Given the description of an element on the screen output the (x, y) to click on. 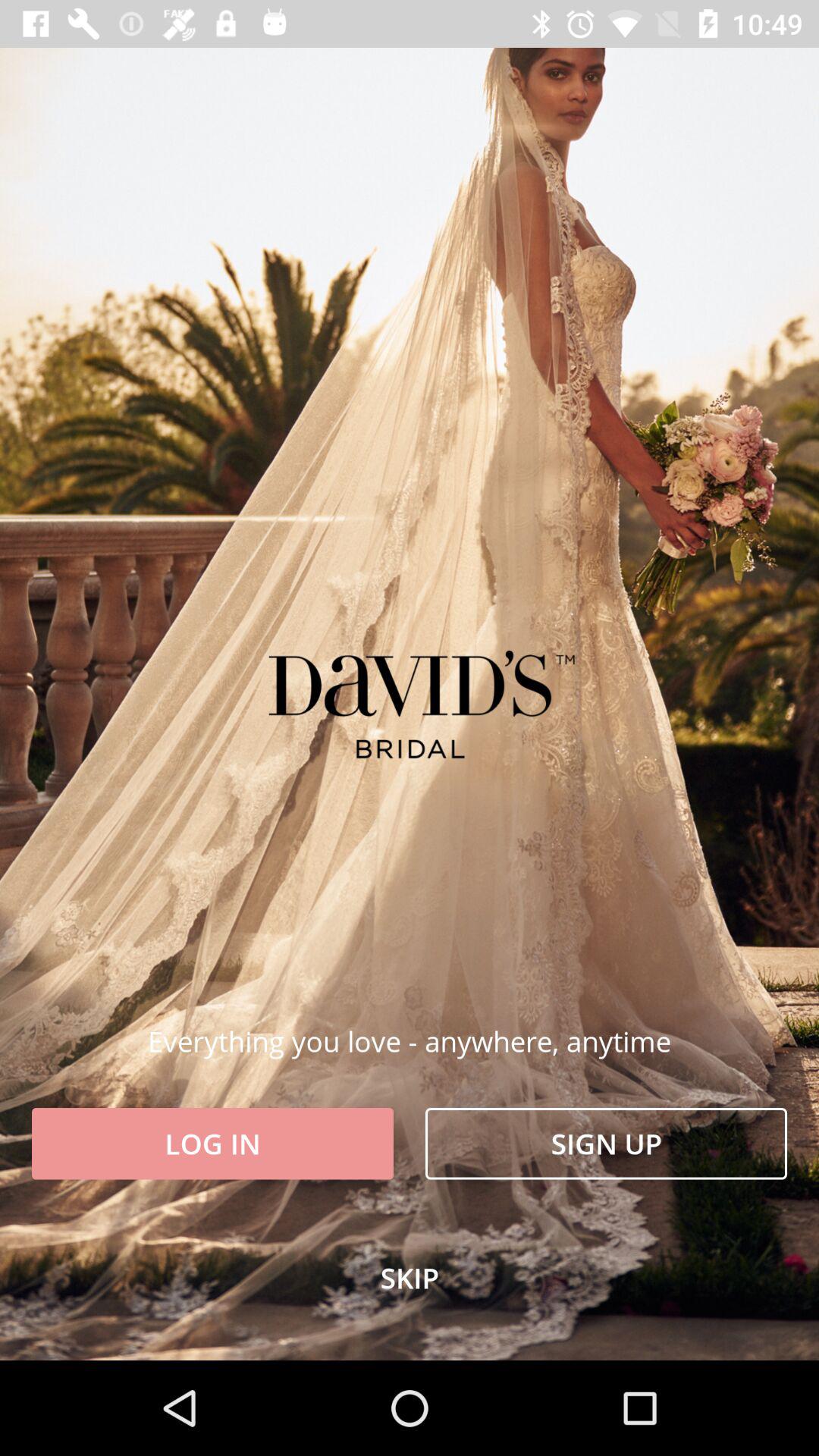
press the icon to the left of the sign up item (212, 1143)
